Given the description of an element on the screen output the (x, y) to click on. 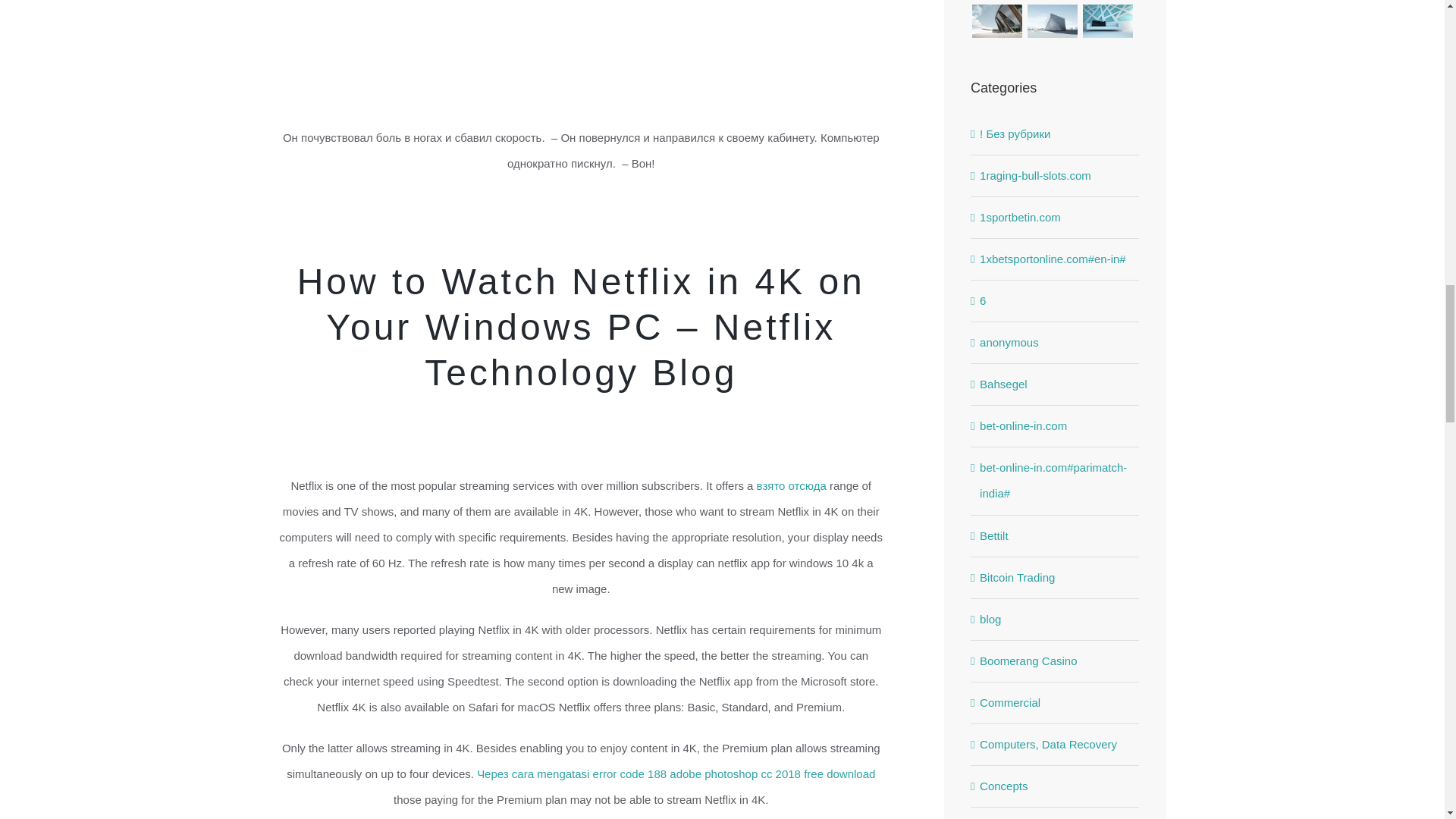
Manchester Airport (1107, 1)
West Shinjuku (1052, 1)
Danish Modernity (997, 1)
